Given the description of an element on the screen output the (x, y) to click on. 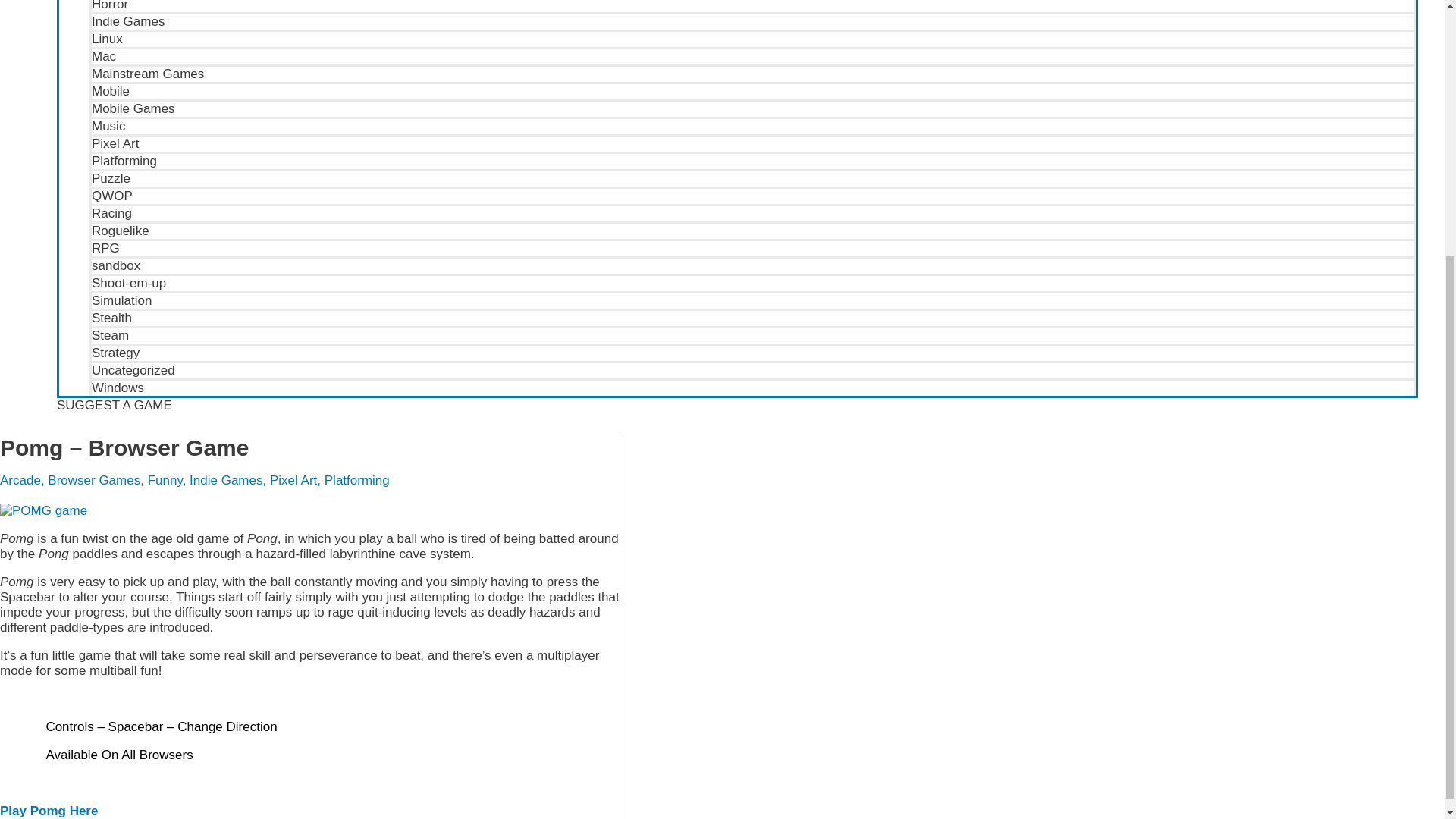
Windows (751, 386)
Pixel Art (751, 142)
Steam (751, 334)
Stealth (751, 316)
Platforming (751, 159)
QWOP (751, 194)
Music (751, 125)
Uncategorized (751, 369)
Mac (751, 55)
Linux (751, 37)
Mainstream Games (751, 72)
Simulation (751, 299)
Roguelike (751, 230)
RPG (751, 247)
